Given the description of an element on the screen output the (x, y) to click on. 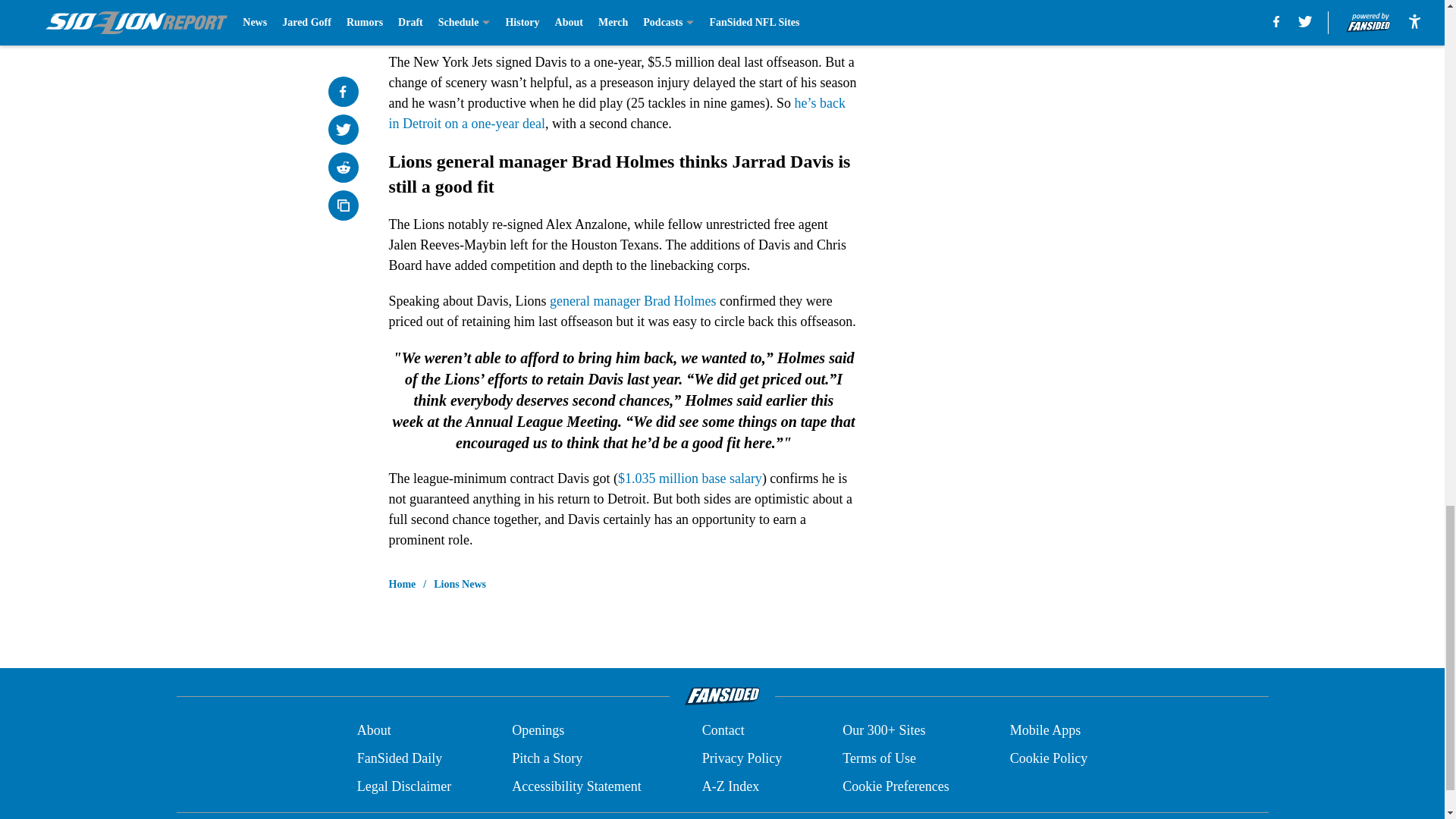
Pitch a Story (547, 758)
About (373, 730)
FanSided Daily (399, 758)
Openings (538, 730)
Privacy Policy (742, 758)
Contact (722, 730)
Lions News (459, 584)
Mobile Apps (1045, 730)
Home (401, 584)
general manager Brad Holmes (633, 300)
